Given the description of an element on the screen output the (x, y) to click on. 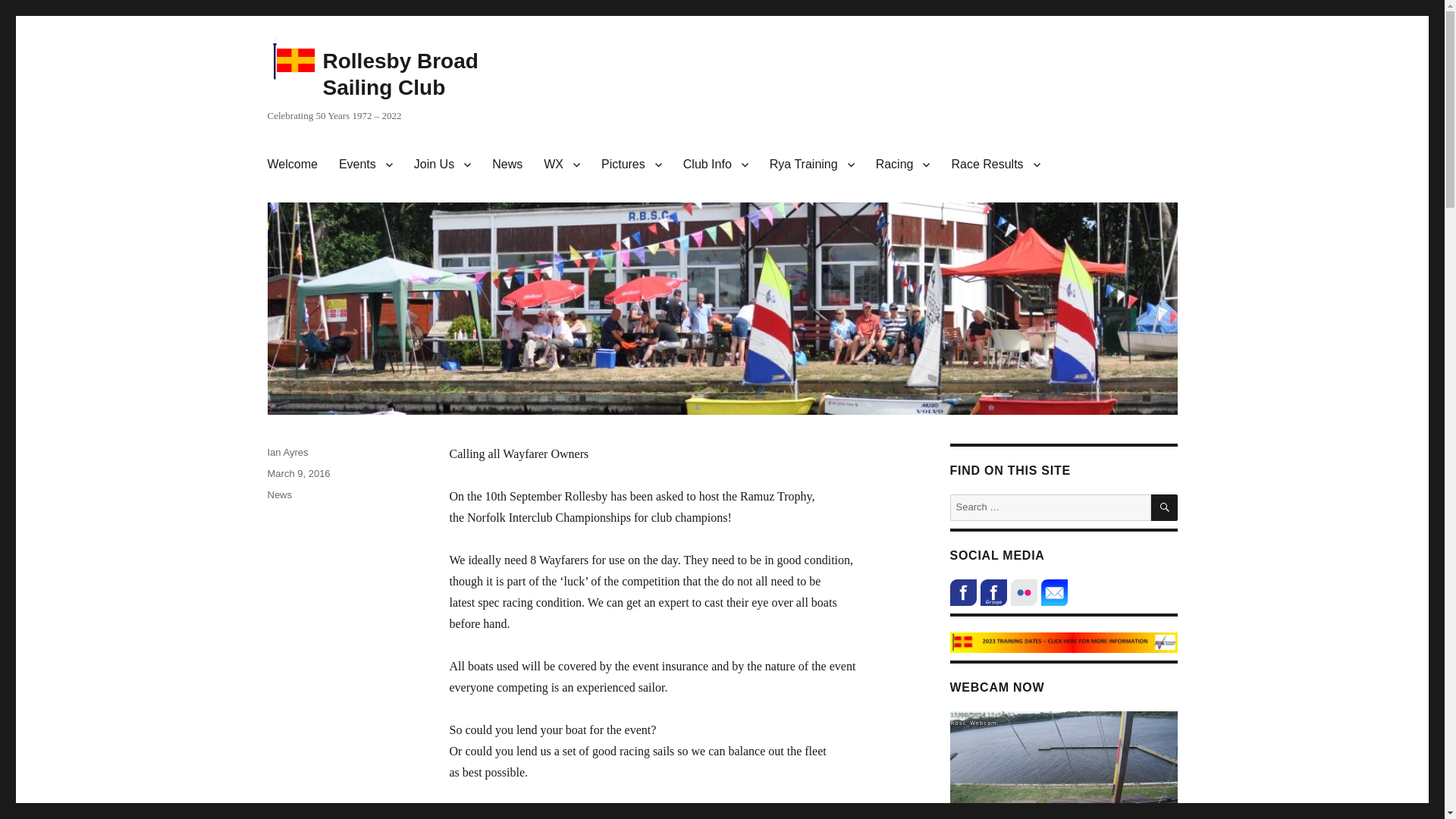
Facebook Page (962, 592)
Webcam, Pics and Videos (631, 164)
Rollesby Broad Sailing Club (401, 74)
Pictures (631, 164)
Email (1054, 592)
Club Info (715, 164)
WX (561, 164)
News (506, 164)
Flickr (1023, 592)
Join Us (442, 164)
